Given the description of an element on the screen output the (x, y) to click on. 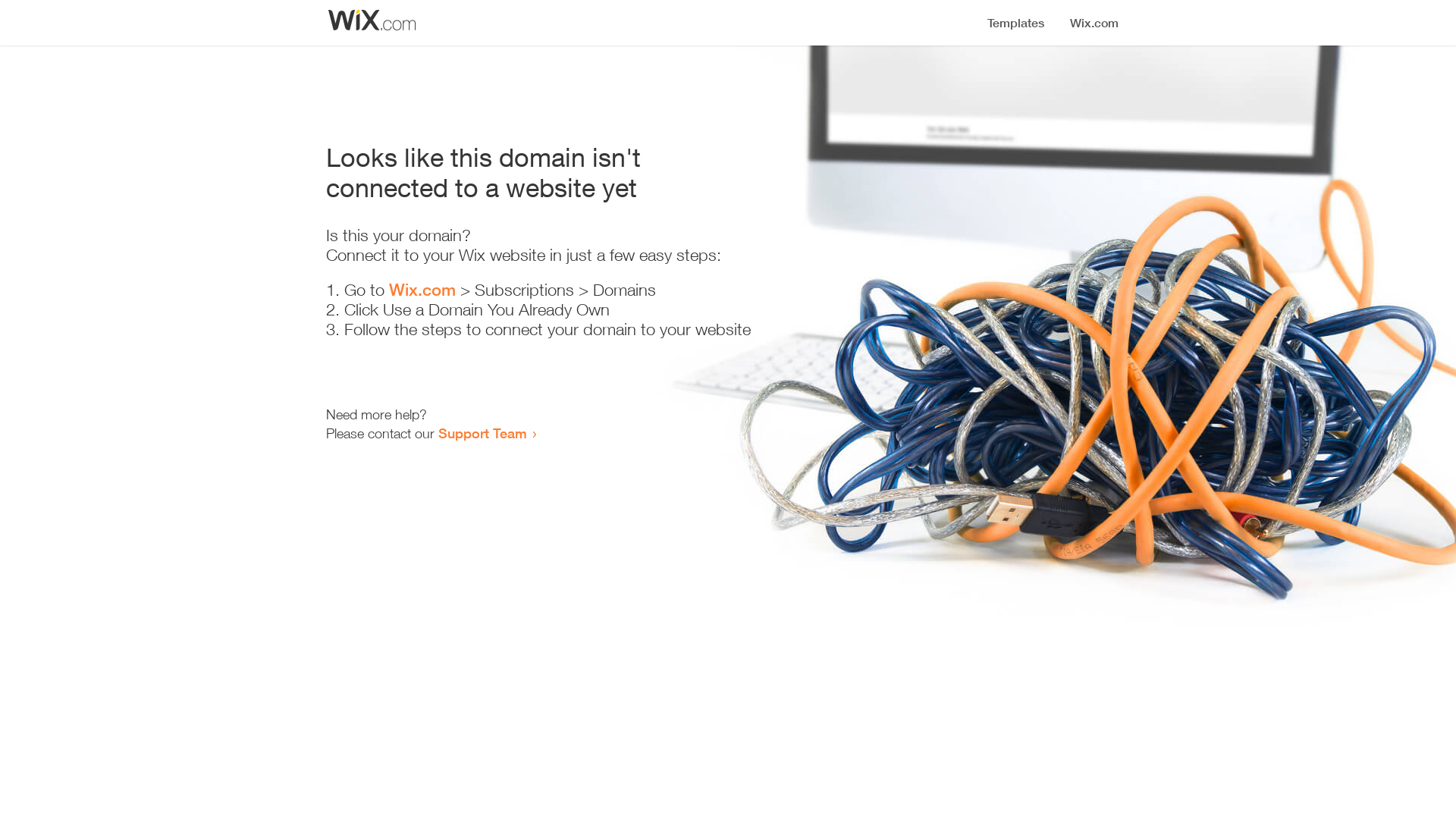
Support Team Element type: text (482, 432)
Wix.com Element type: text (422, 289)
